Given the description of an element on the screen output the (x, y) to click on. 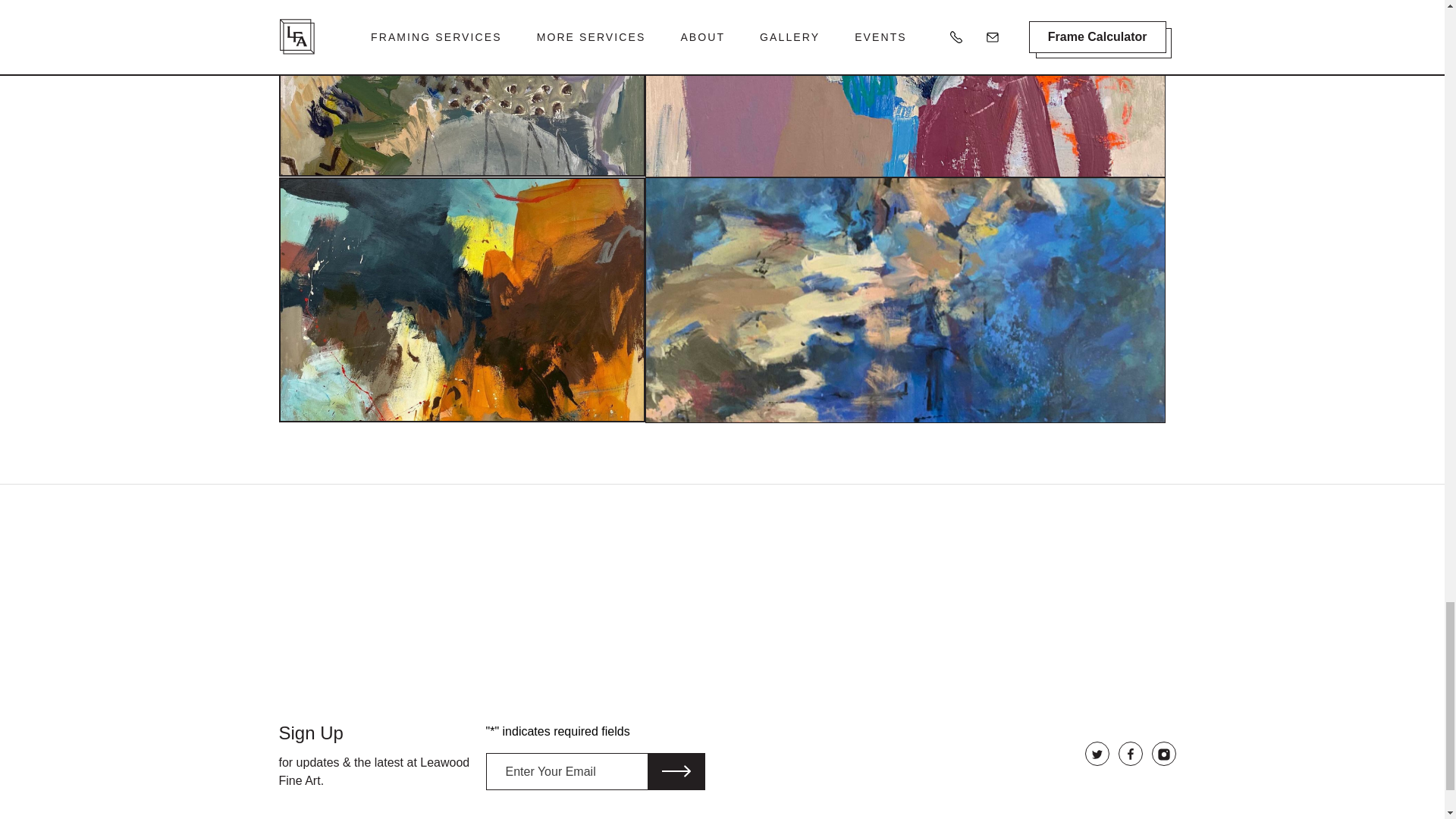
Submit (675, 770)
Submit (675, 770)
